Given the description of an element on the screen output the (x, y) to click on. 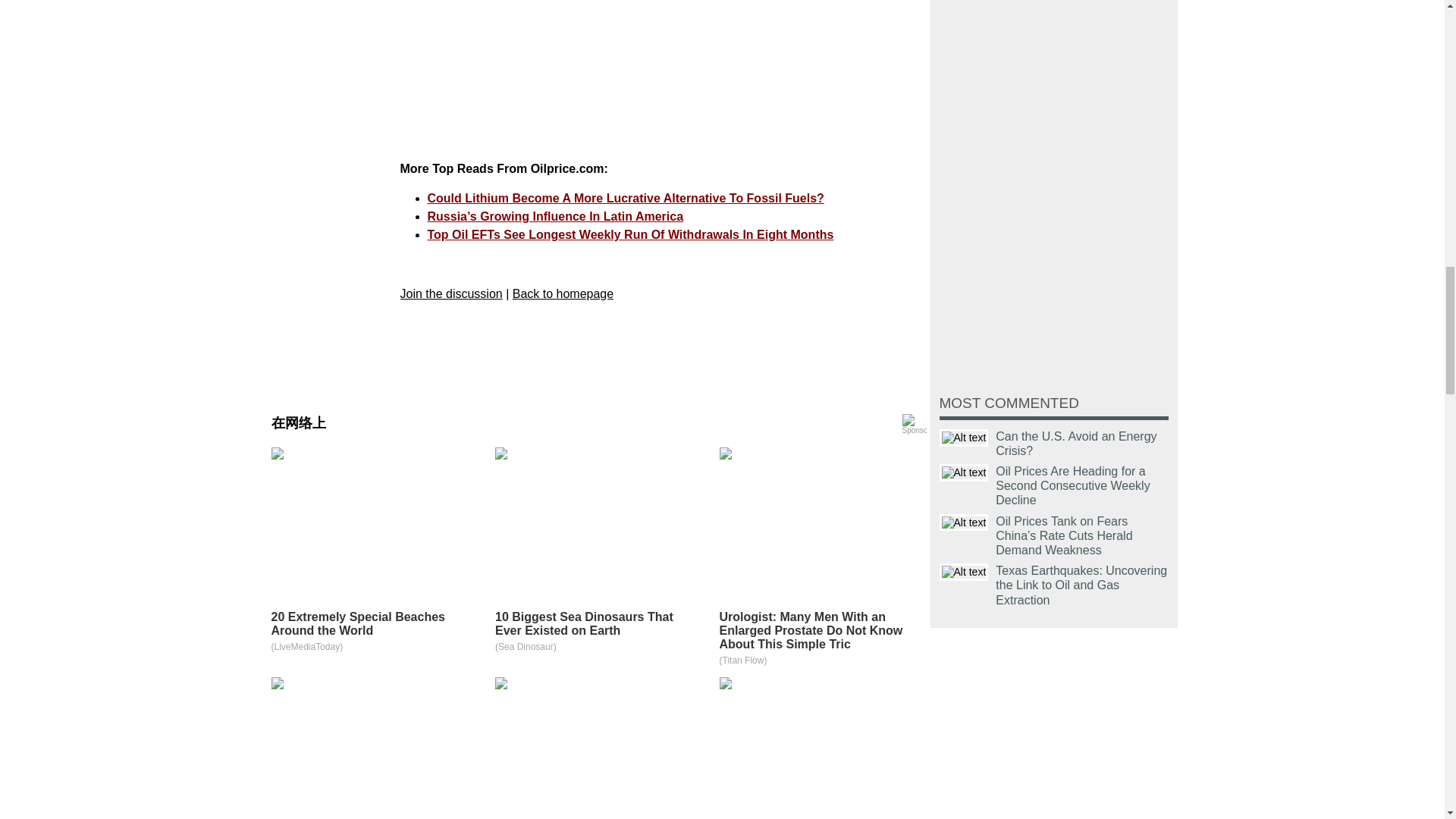
Title text (963, 571)
Title text (963, 437)
Title text (963, 522)
Title text (963, 472)
